Given the description of an element on the screen output the (x, y) to click on. 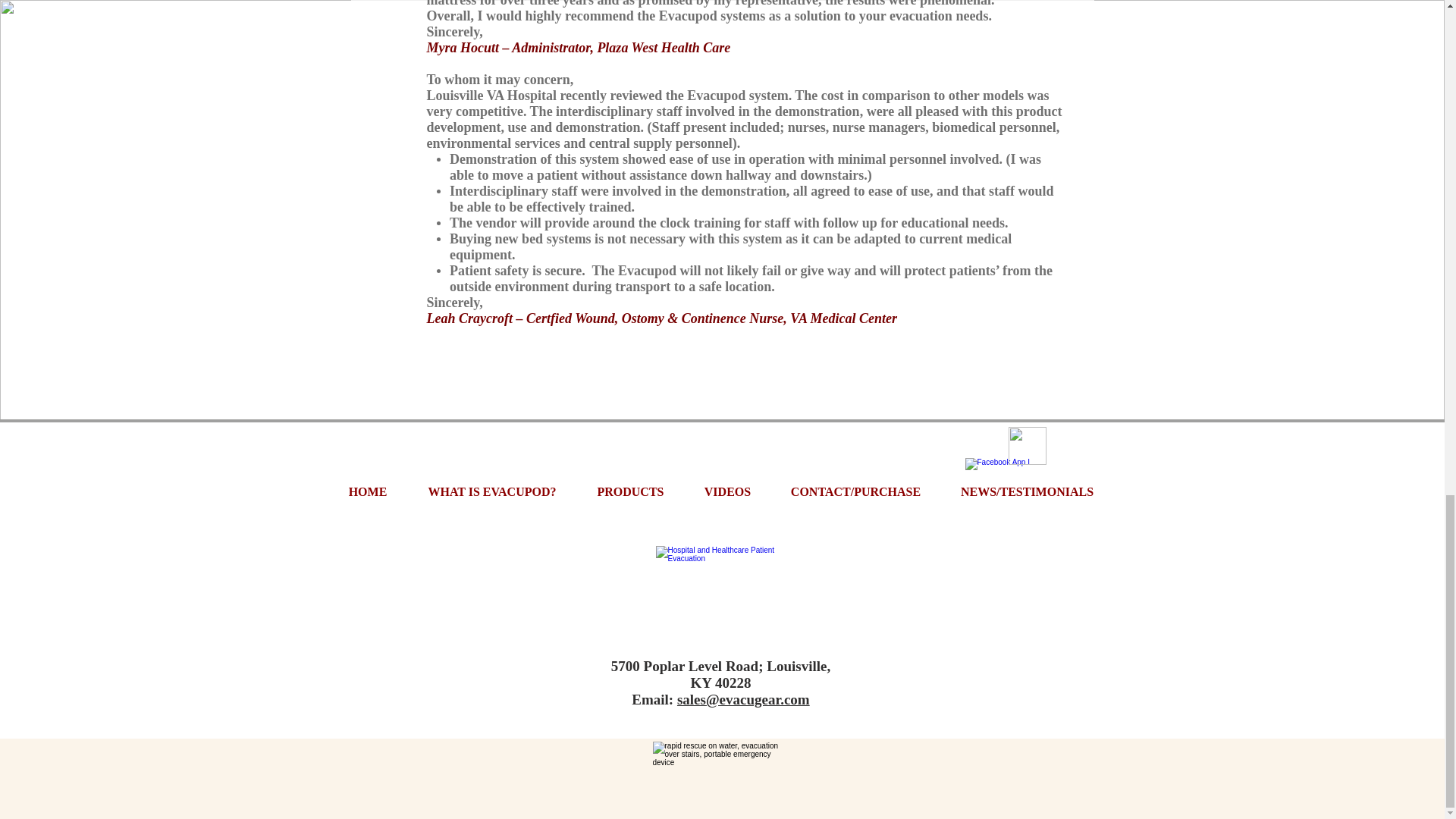
VIDEOS (727, 492)
WHAT IS EVACUPOD? (491, 492)
HOME (367, 492)
PRODUCTS (630, 492)
